Given the description of an element on the screen output the (x, y) to click on. 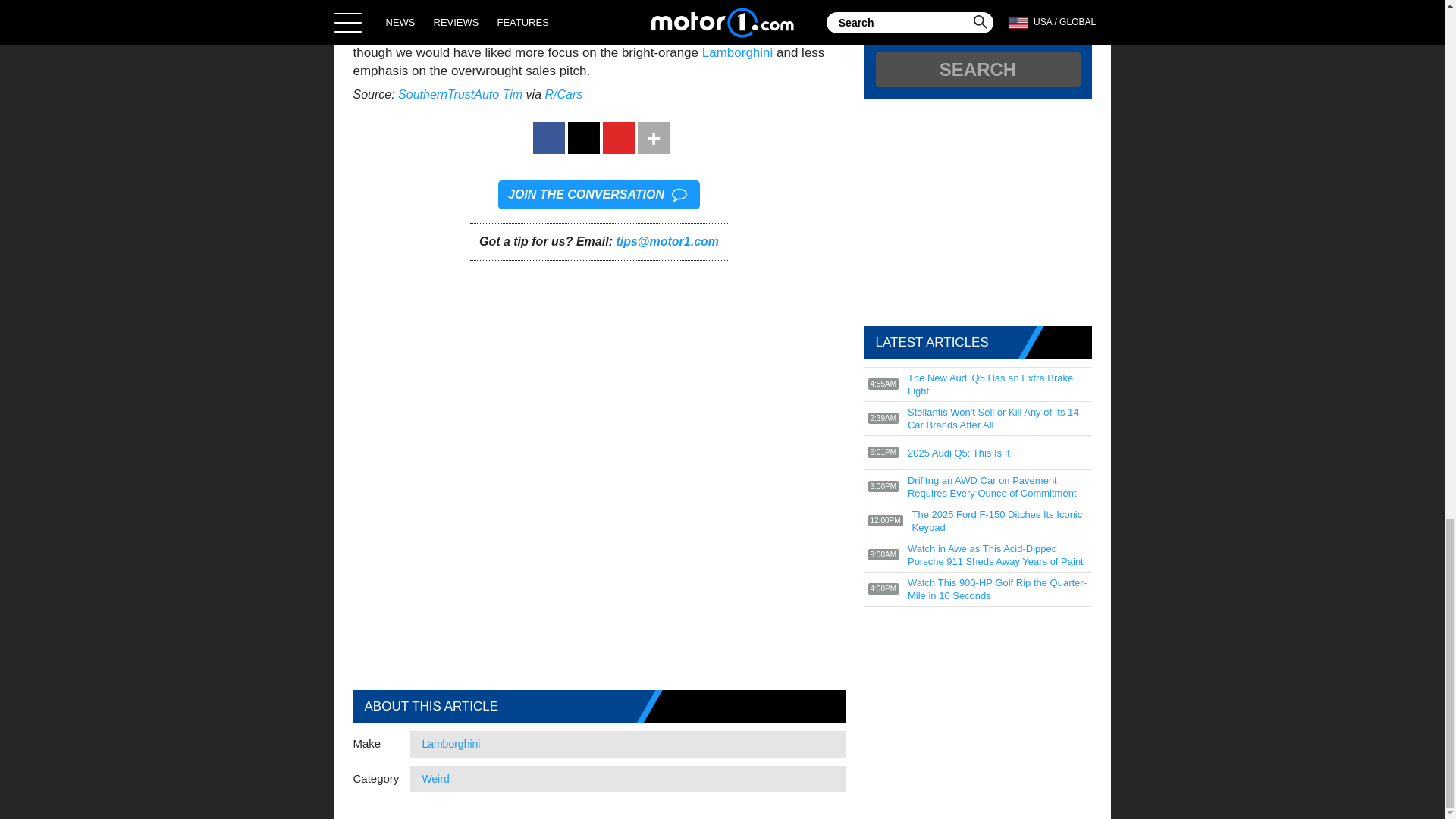
Lamborghini (737, 52)
Search (977, 69)
SouthernTrustAuto Tim (459, 93)
JOIN THE CONVERSATION (598, 194)
